Given the description of an element on the screen output the (x, y) to click on. 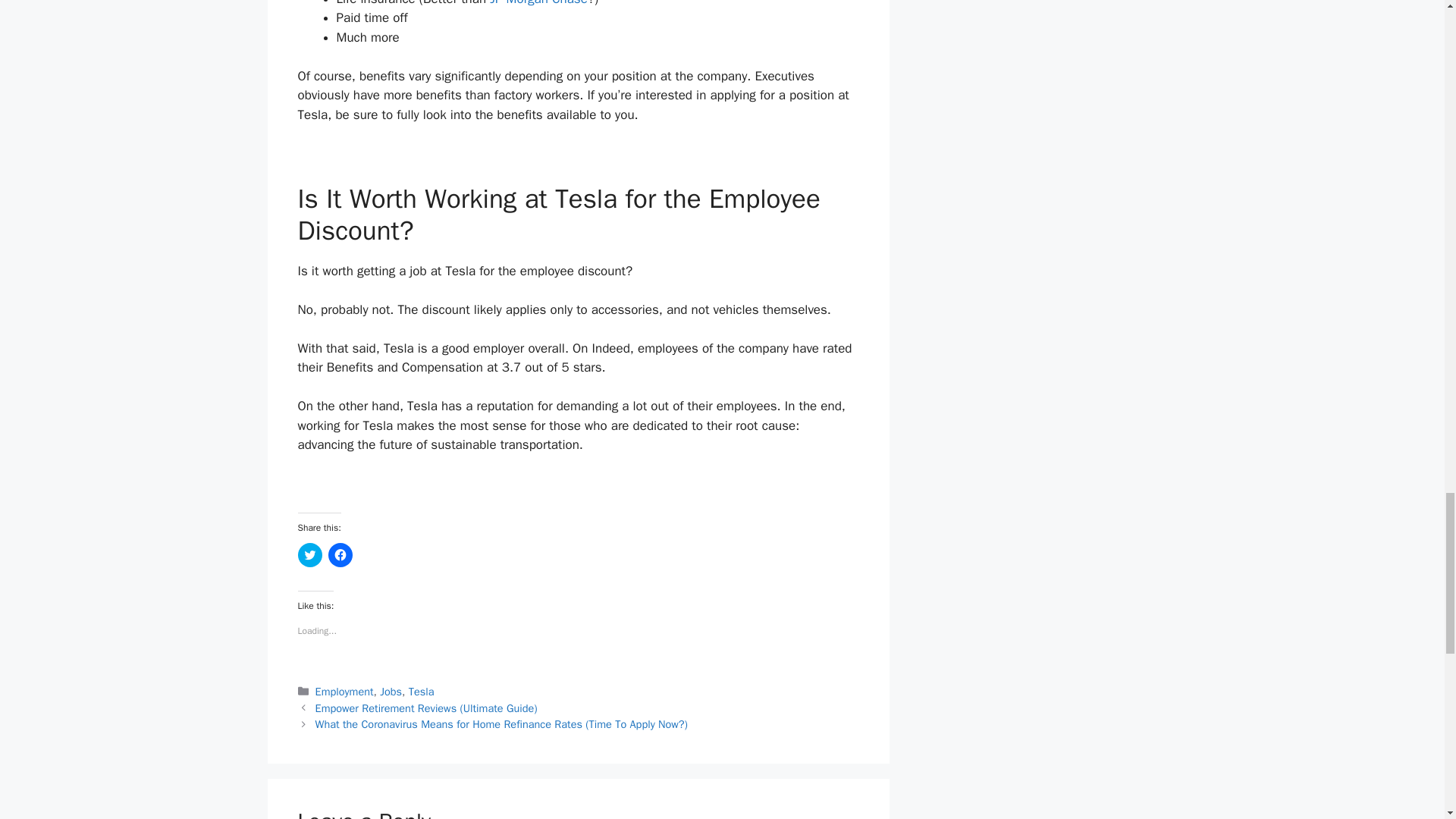
JP Morgan Chase (538, 3)
Click to share on Twitter (309, 554)
Jobs (390, 691)
Click to share on Facebook (339, 554)
Employment (344, 691)
Tesla (421, 691)
